Given the description of an element on the screen output the (x, y) to click on. 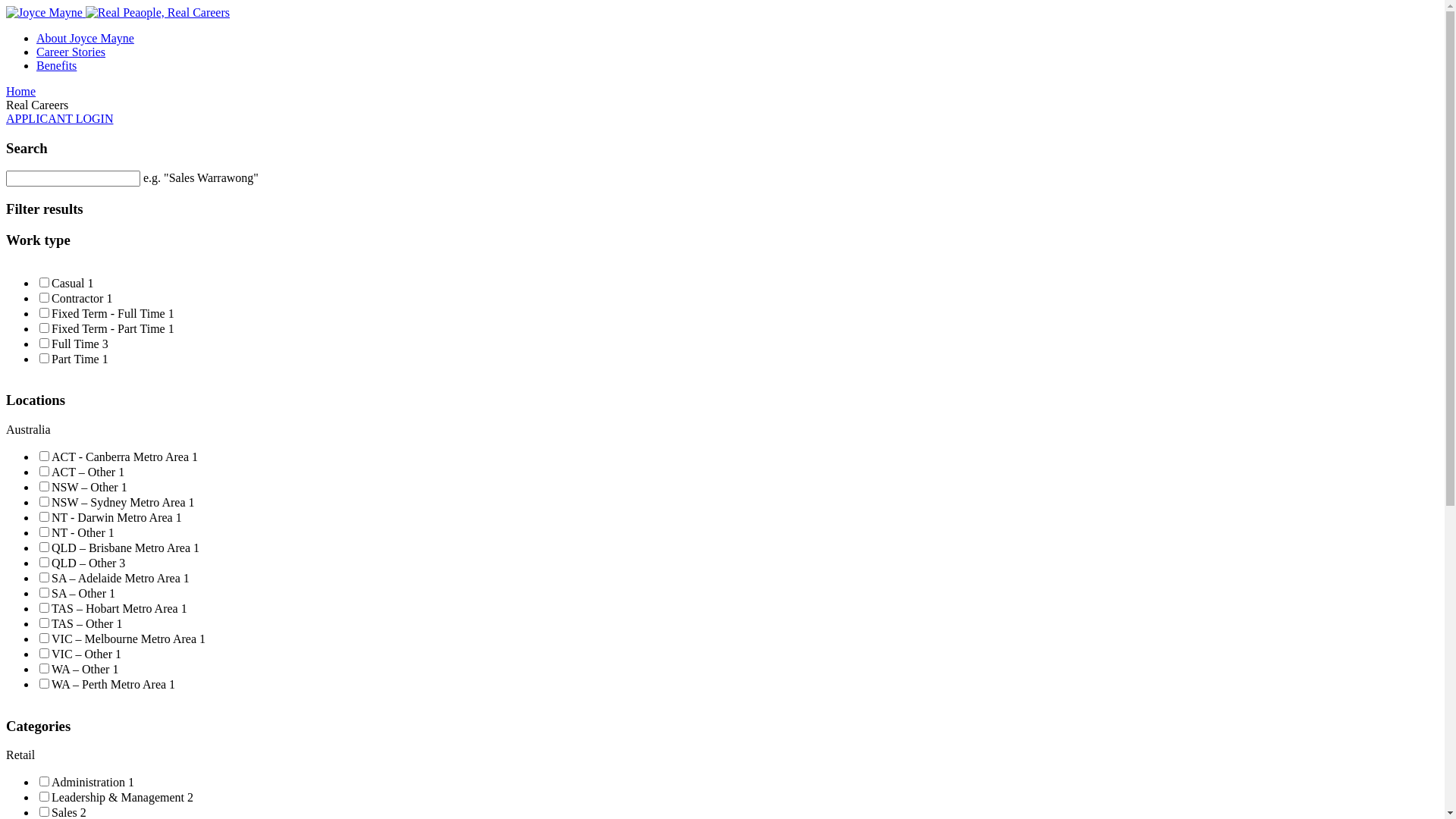
Career Stories Element type: text (737, 51)
About Joyce Mayne Element type: text (737, 37)
APPLICANT LOGIN Element type: text (59, 118)
Benefits Element type: text (737, 65)
Home Element type: text (722, 90)
